Given the description of an element on the screen output the (x, y) to click on. 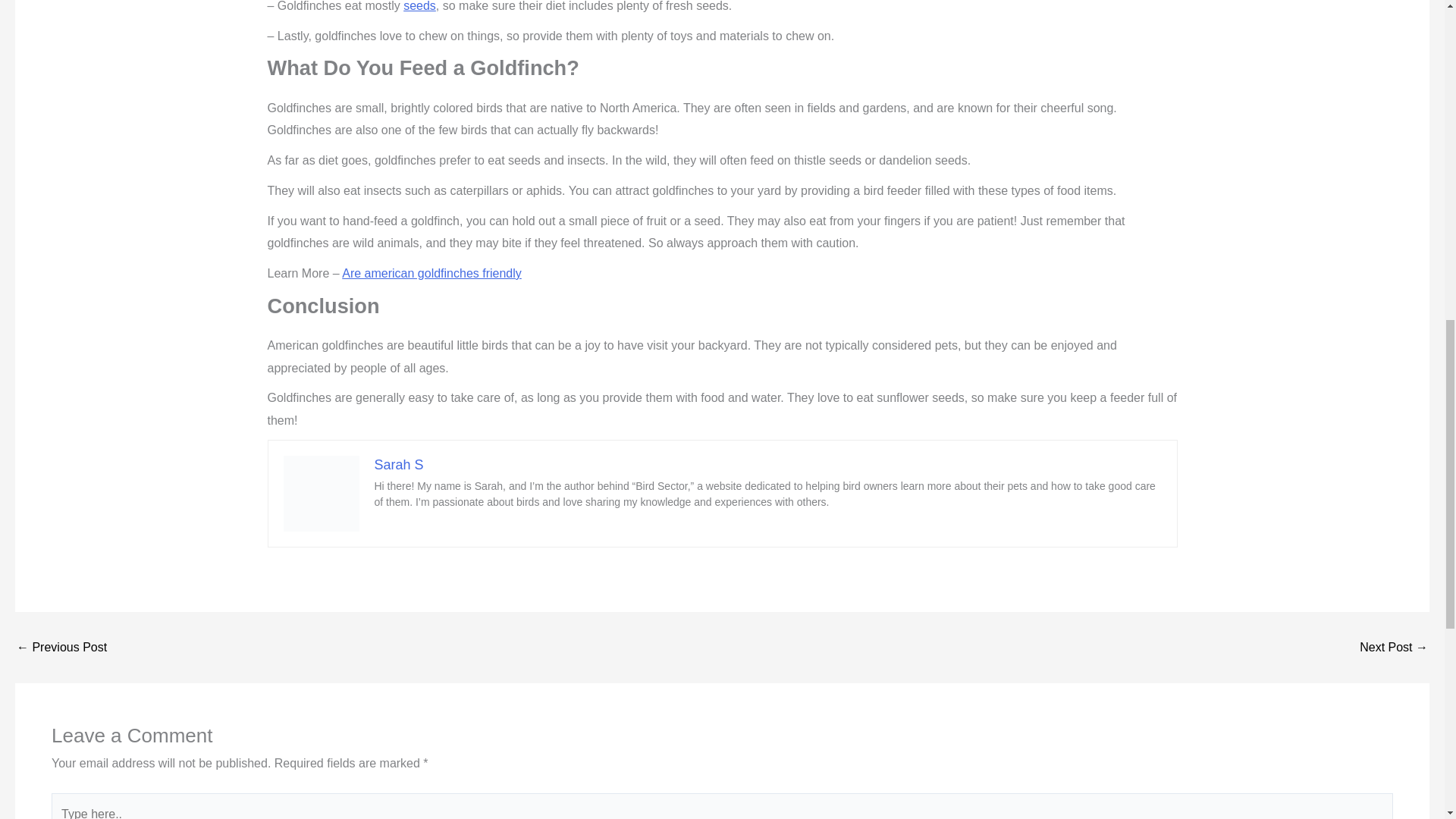
Where Are American Goldfinches Found? (1393, 647)
Are american goldfinches friendly (431, 273)
Sarah S (398, 464)
seeds (419, 6)
Are American Goldfinches Friendly? (61, 647)
